Given the description of an element on the screen output the (x, y) to click on. 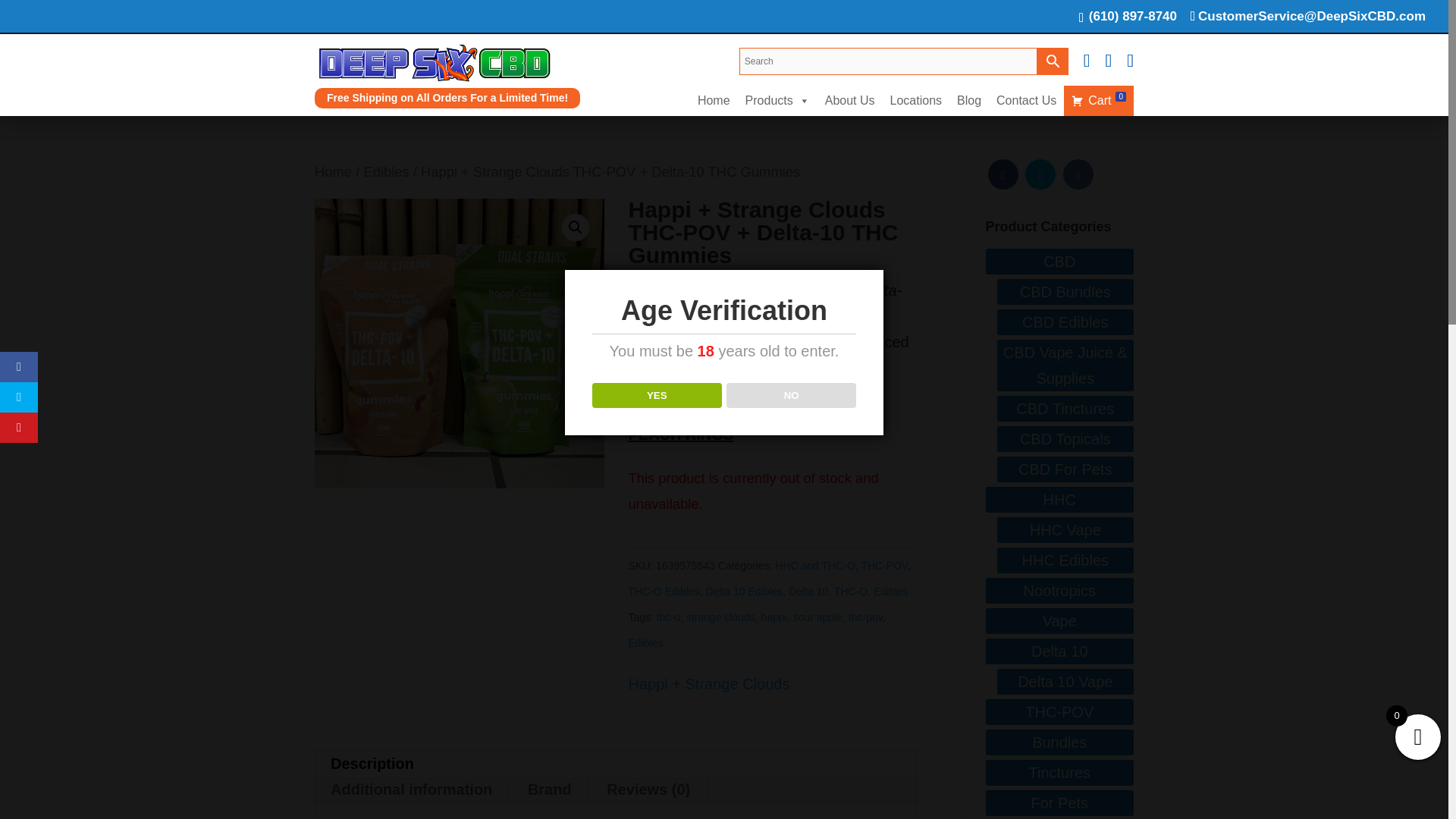
THC-O Edibles (662, 591)
Products (777, 100)
About Us (849, 100)
HHC and THC-O (815, 565)
Blog (968, 100)
Edibles (890, 591)
Delta 10 (808, 591)
THC-POV (883, 565)
happi (774, 616)
thc-pov (865, 616)
strange clouds (720, 616)
thc-o (667, 616)
sour apple (818, 616)
Home (714, 100)
THC-O (850, 591)
